Given the description of an element on the screen output the (x, y) to click on. 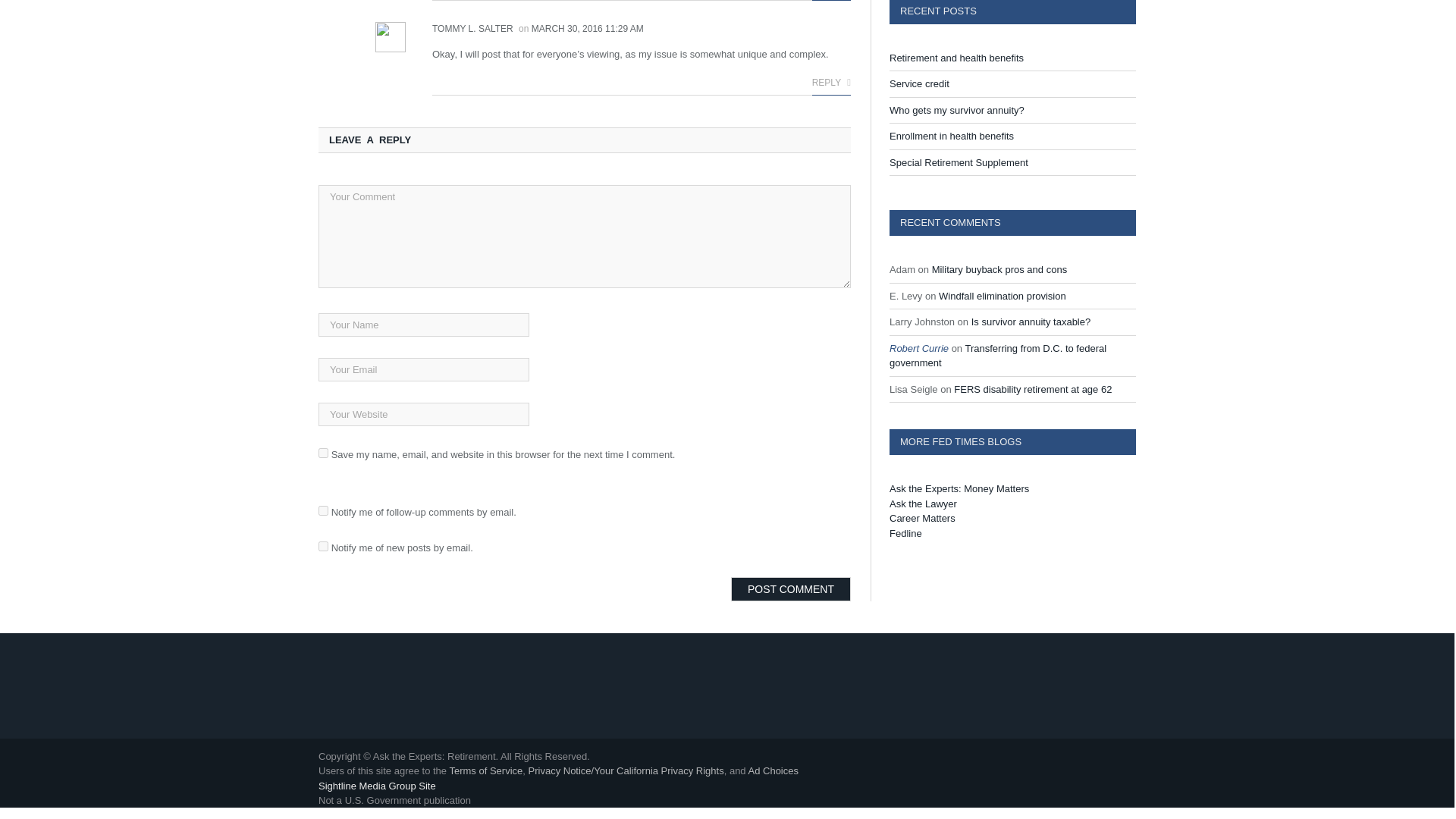
subscribe (323, 546)
Post Comment (790, 589)
subscribe (323, 510)
yes (323, 452)
